Given the description of an element on the screen output the (x, y) to click on. 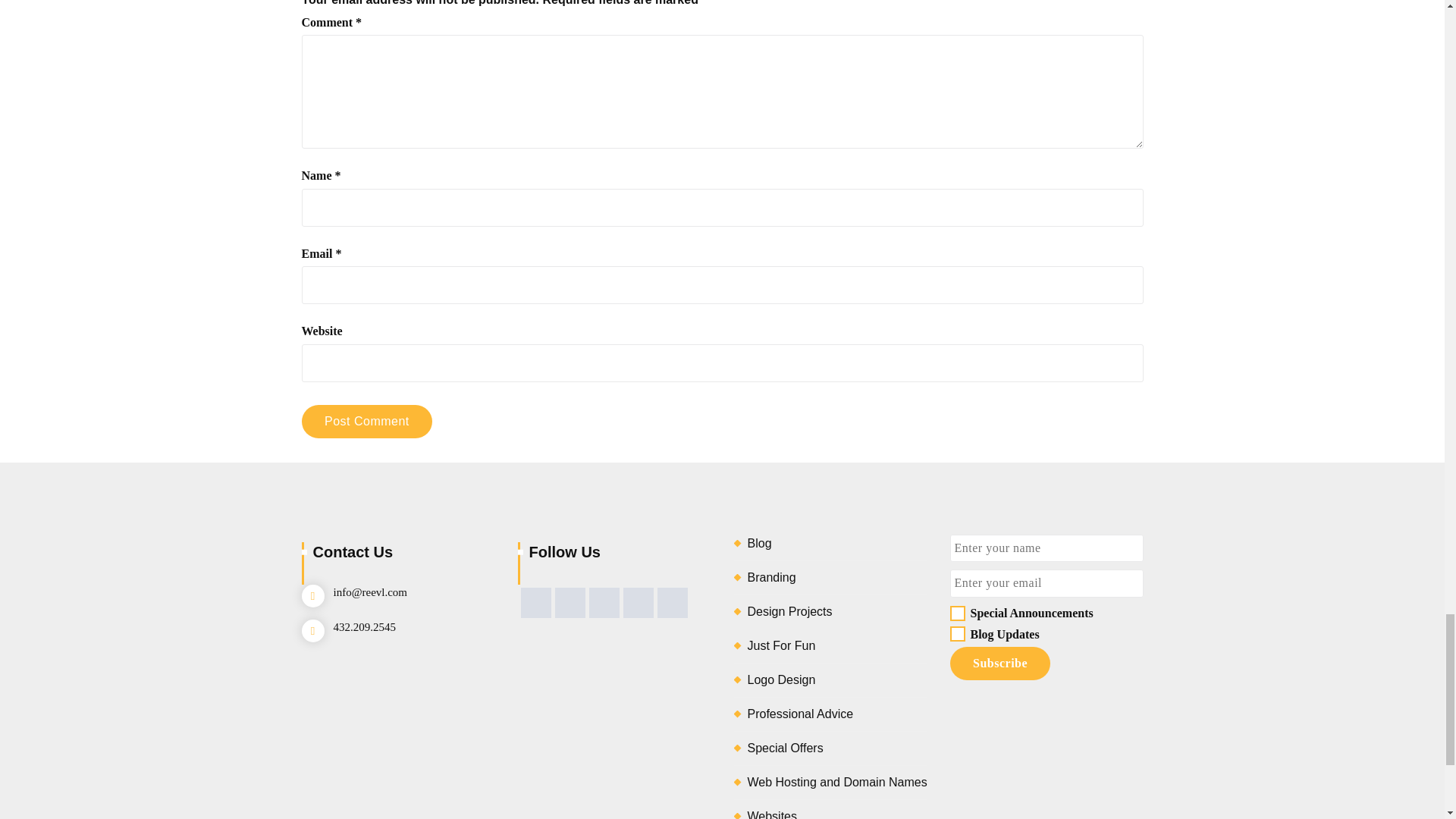
c6b1229c27a7 (956, 613)
f0509ba12127 (956, 633)
Post Comment (366, 421)
Subscribe (999, 663)
